Given the description of an element on the screen output the (x, y) to click on. 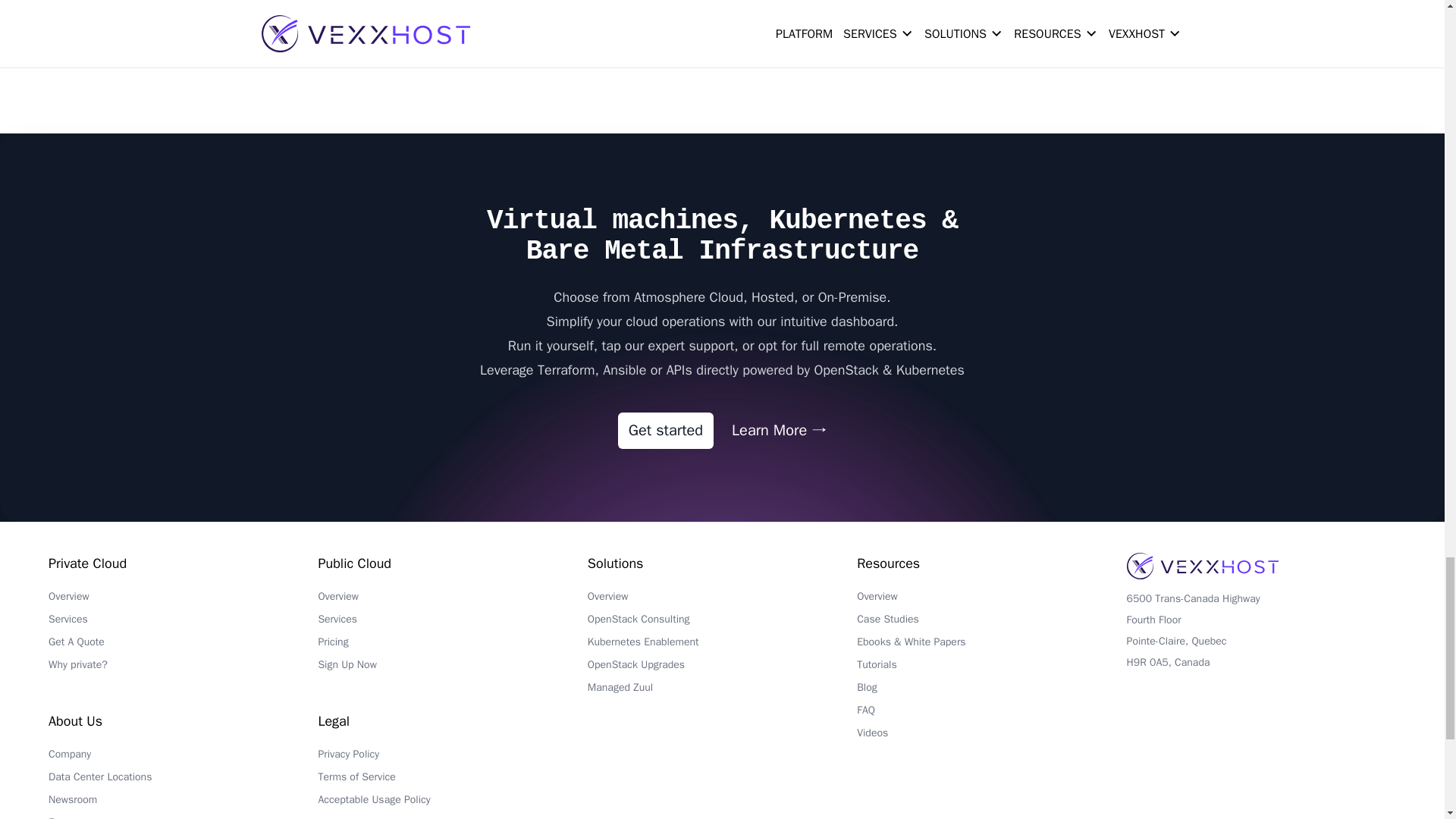
Find out more (395, 58)
Why private? (182, 668)
Get started (665, 430)
Events (182, 816)
Company (182, 757)
Newsroom (182, 803)
Overview (182, 599)
Services (182, 622)
Get A Quote (182, 645)
Data Center Locations (182, 780)
